Given the description of an element on the screen output the (x, y) to click on. 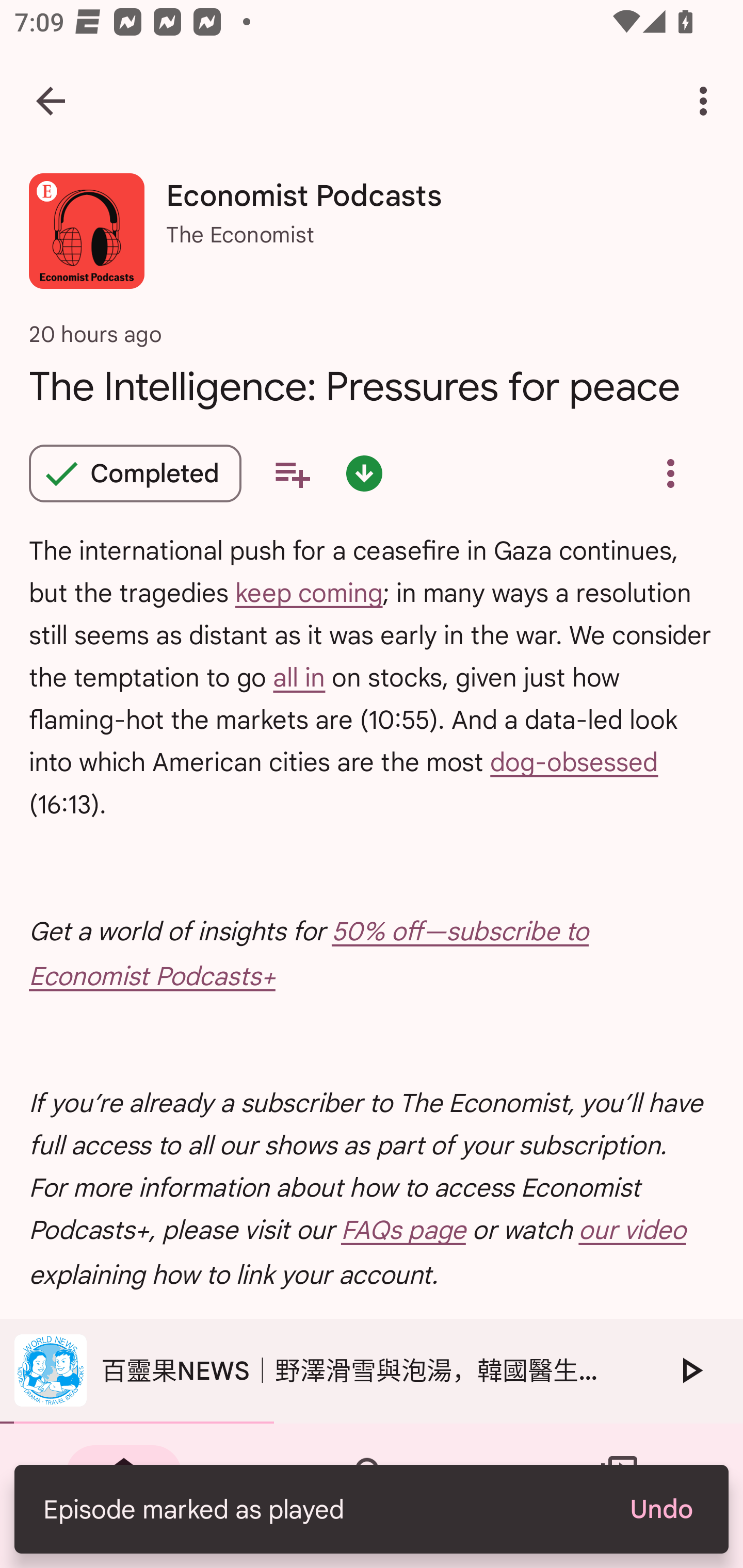
Navigate up (50, 101)
More options (706, 101)
Add to your queue (291, 473)
Episode downloaded - double tap for options (364, 473)
Overflow menu (670, 473)
Play (690, 1370)
Undo (660, 1509)
